Given the description of an element on the screen output the (x, y) to click on. 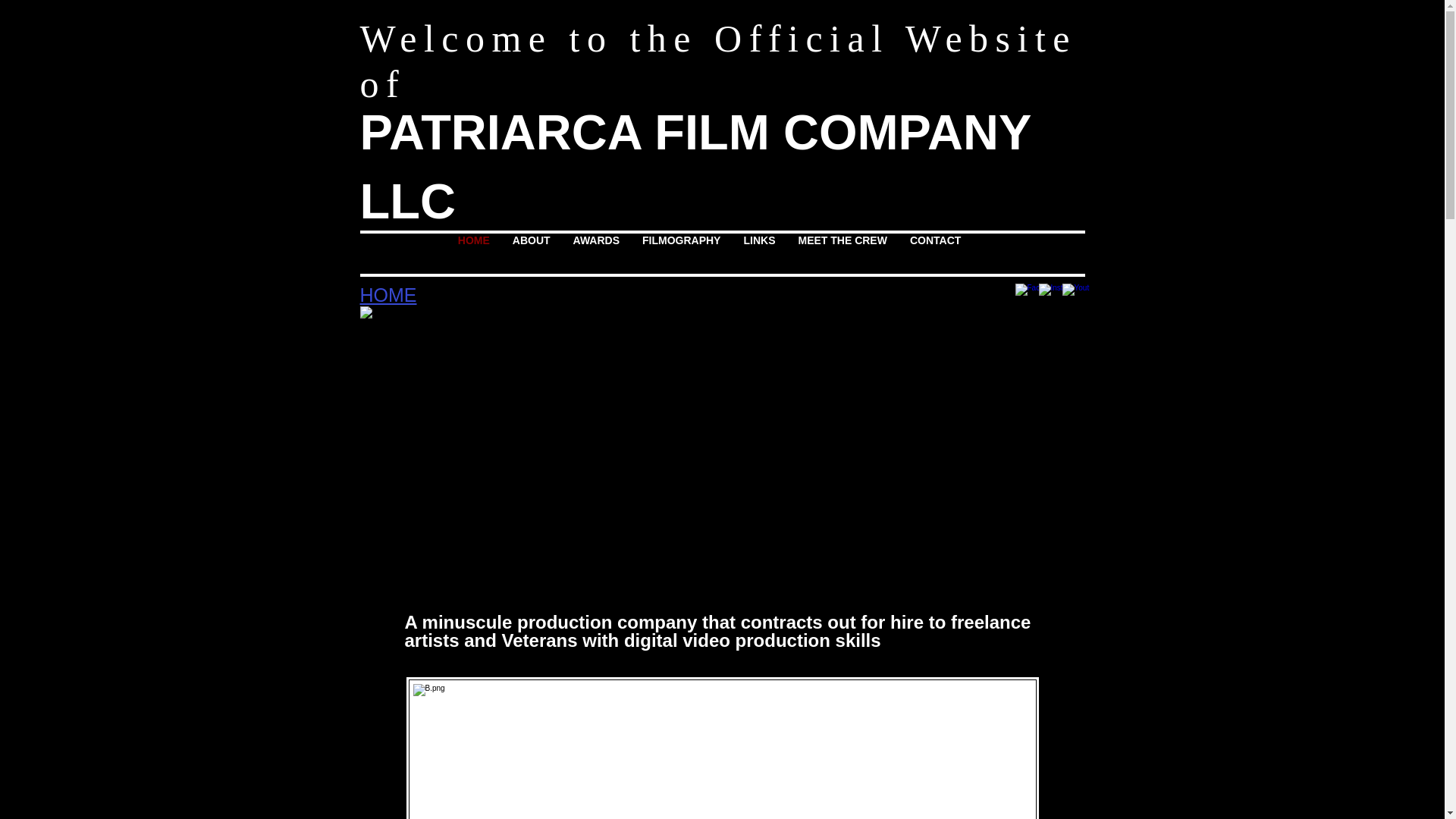
FILMOGRAPHY (681, 253)
AWARDS (596, 253)
LINKS (759, 253)
HOME (473, 253)
ABOUT (531, 253)
CONTACT (935, 253)
MEET THE CREW (842, 253)
